Given the description of an element on the screen output the (x, y) to click on. 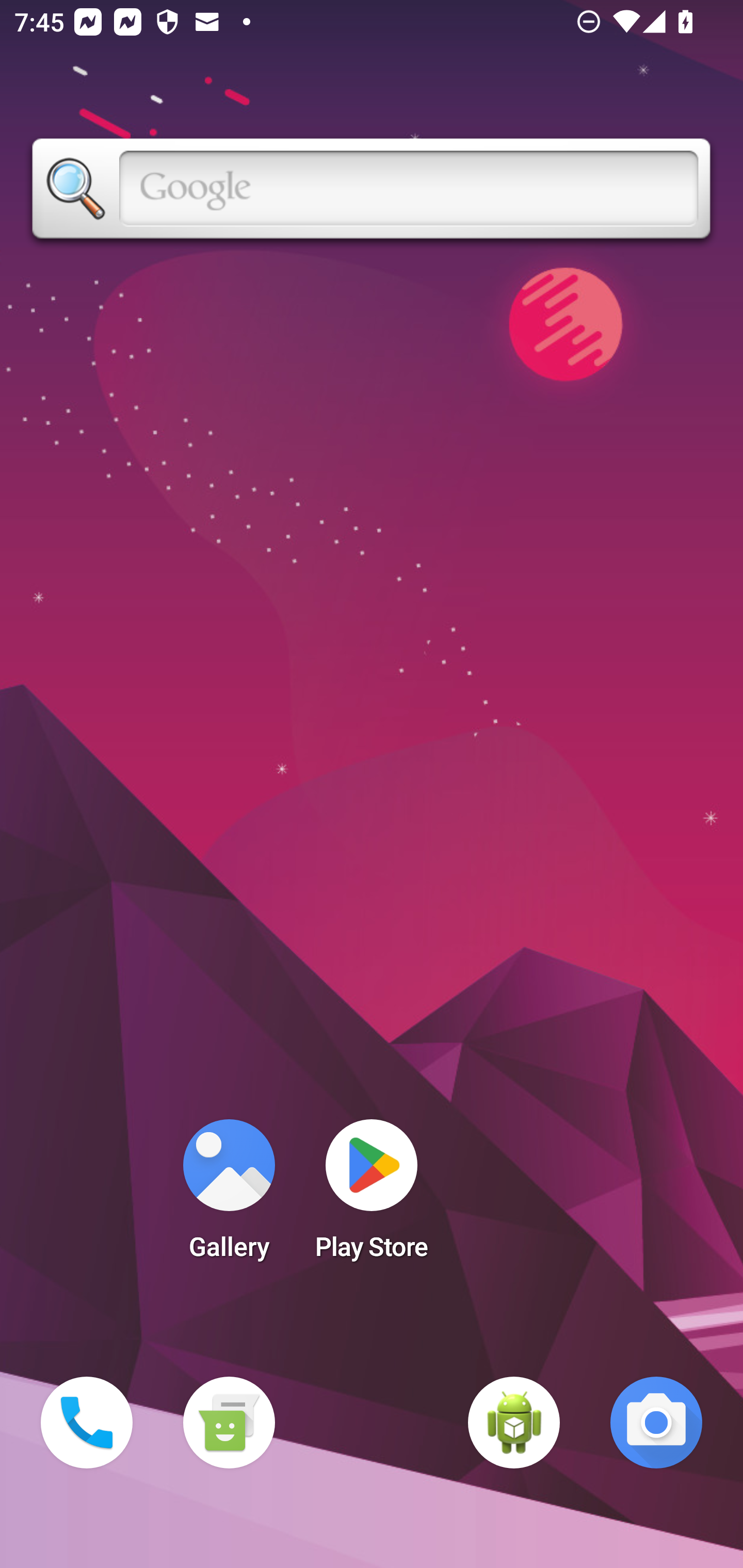
Gallery (228, 1195)
Play Store (371, 1195)
Phone (86, 1422)
Messaging (228, 1422)
WebView Browser Tester (513, 1422)
Camera (656, 1422)
